Given the description of an element on the screen output the (x, y) to click on. 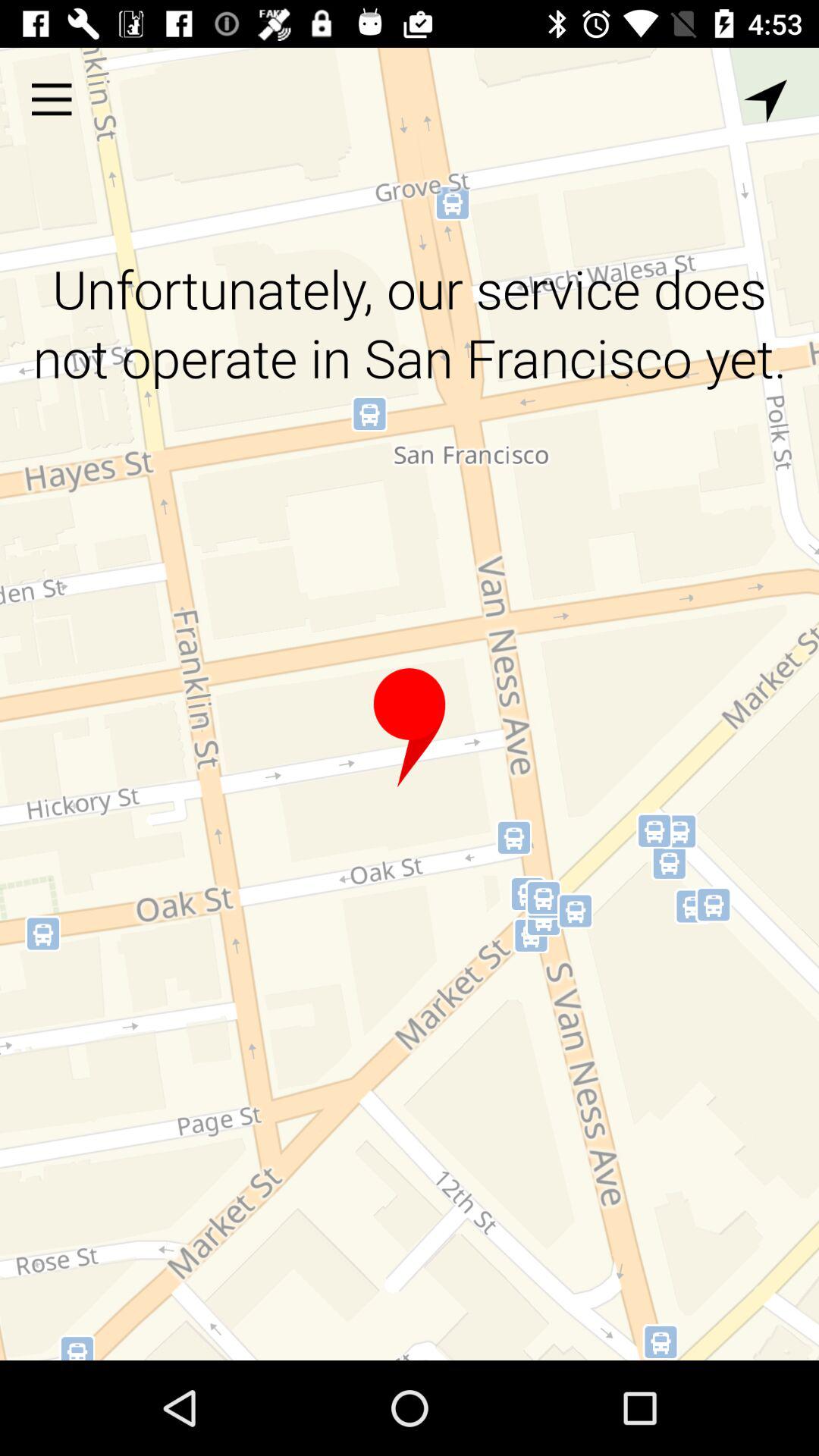
more options (51, 99)
